Given the description of an element on the screen output the (x, y) to click on. 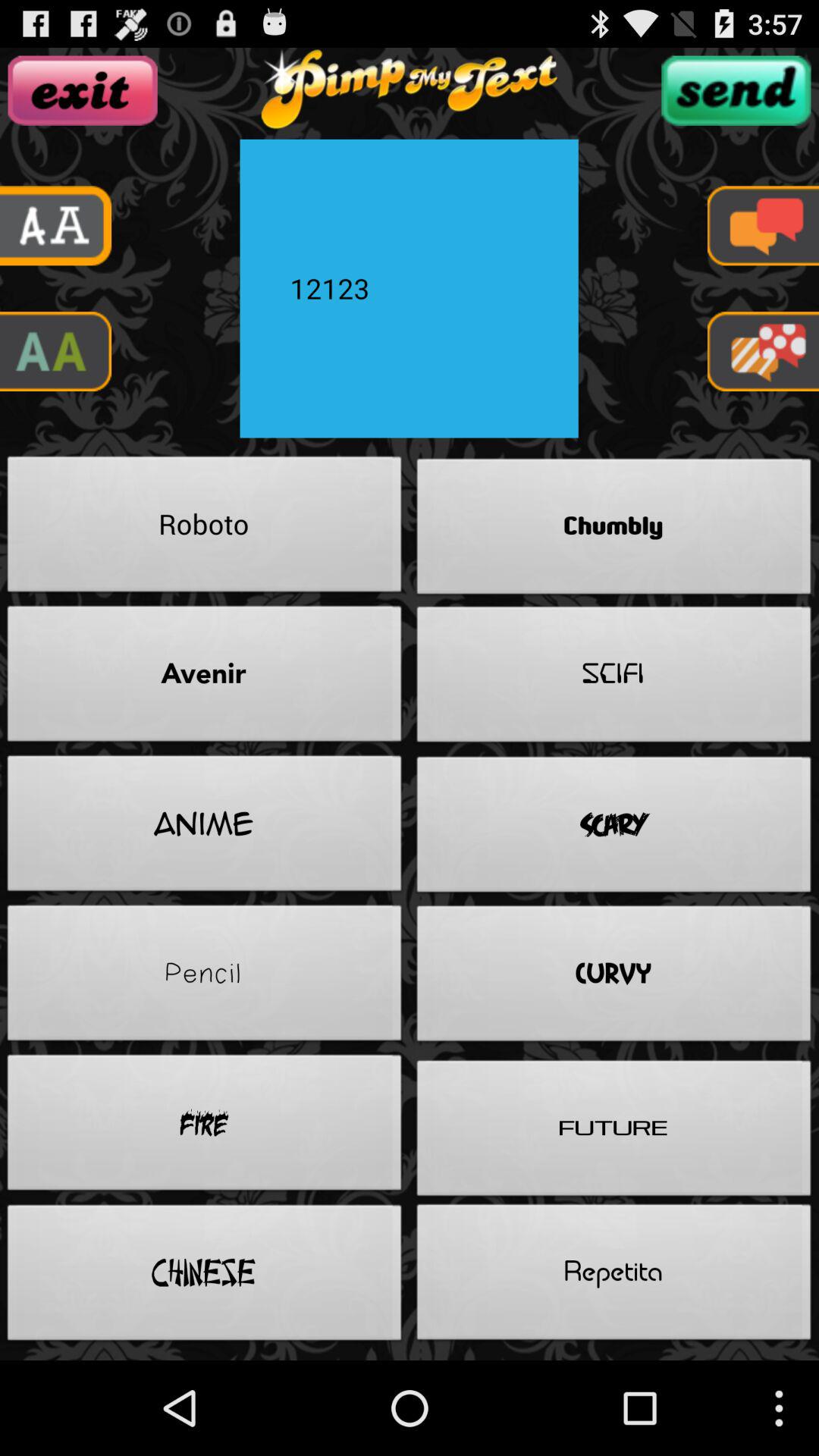
close button (82, 90)
